Given the description of an element on the screen output the (x, y) to click on. 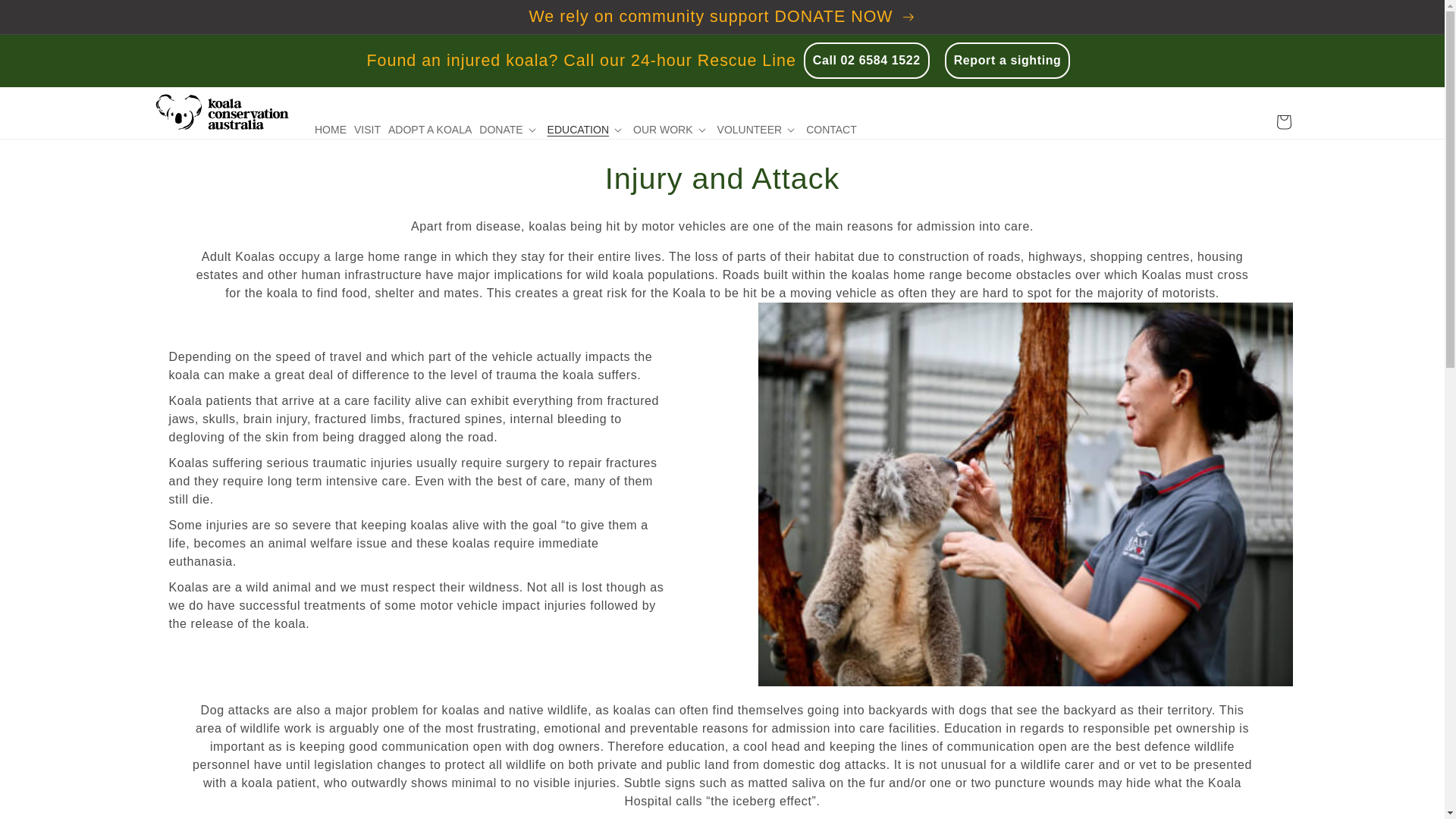
Call 02 6584 1522 (866, 60)
Skip to content (45, 17)
Report a sighting (1007, 60)
